Given the description of an element on the screen output the (x, y) to click on. 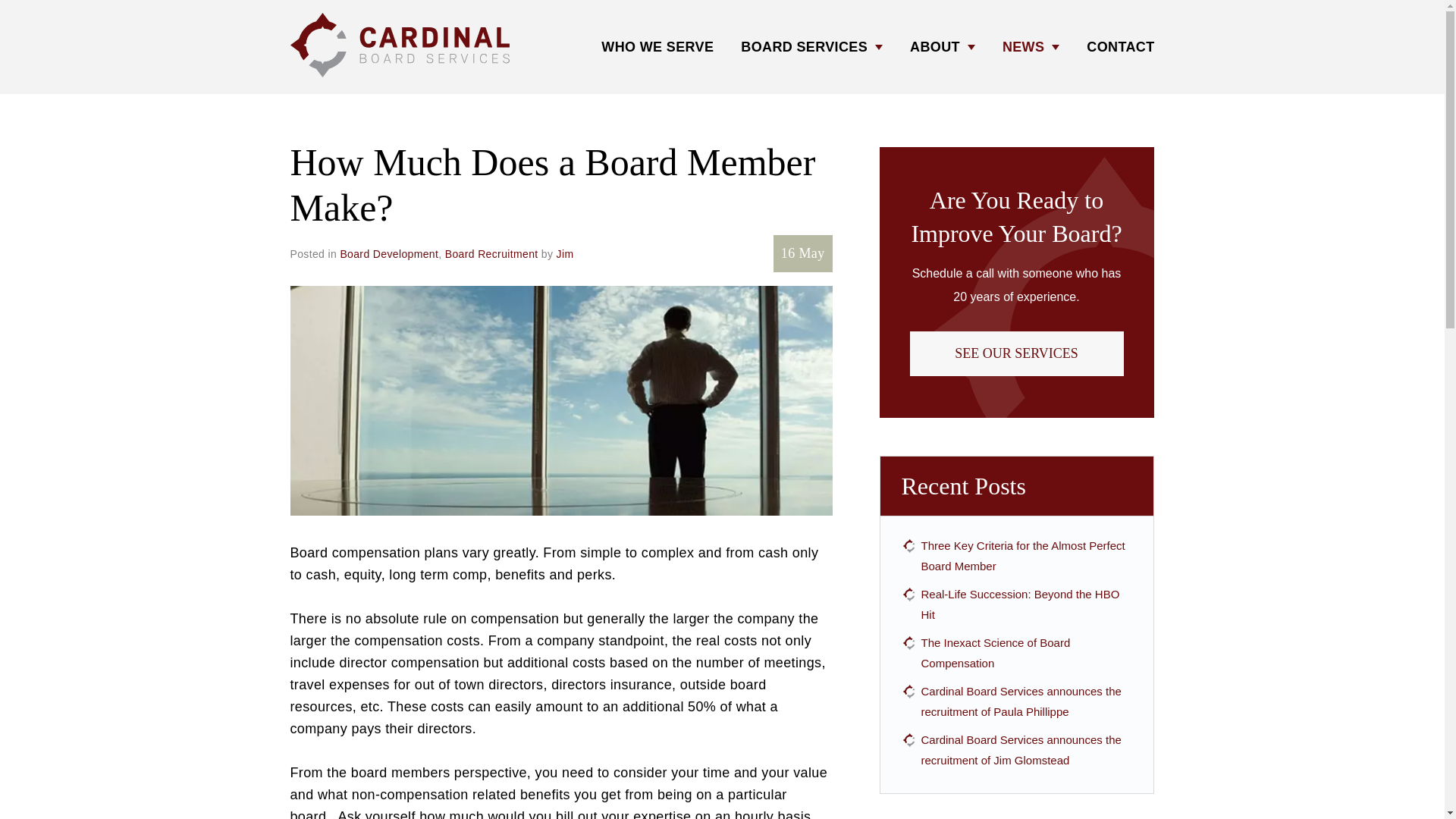
Jim (564, 253)
WHO WE SERVE (657, 47)
CONTACT (1120, 47)
Board Development (388, 253)
Real-Life Succession: Beyond the HBO Hit (1024, 603)
NEWS (1030, 47)
Board Recruitment (491, 253)
Three Key Criteria for the Almost Perfect Board Member (1024, 555)
Cardinal Board Services (399, 44)
